Given the description of an element on the screen output the (x, y) to click on. 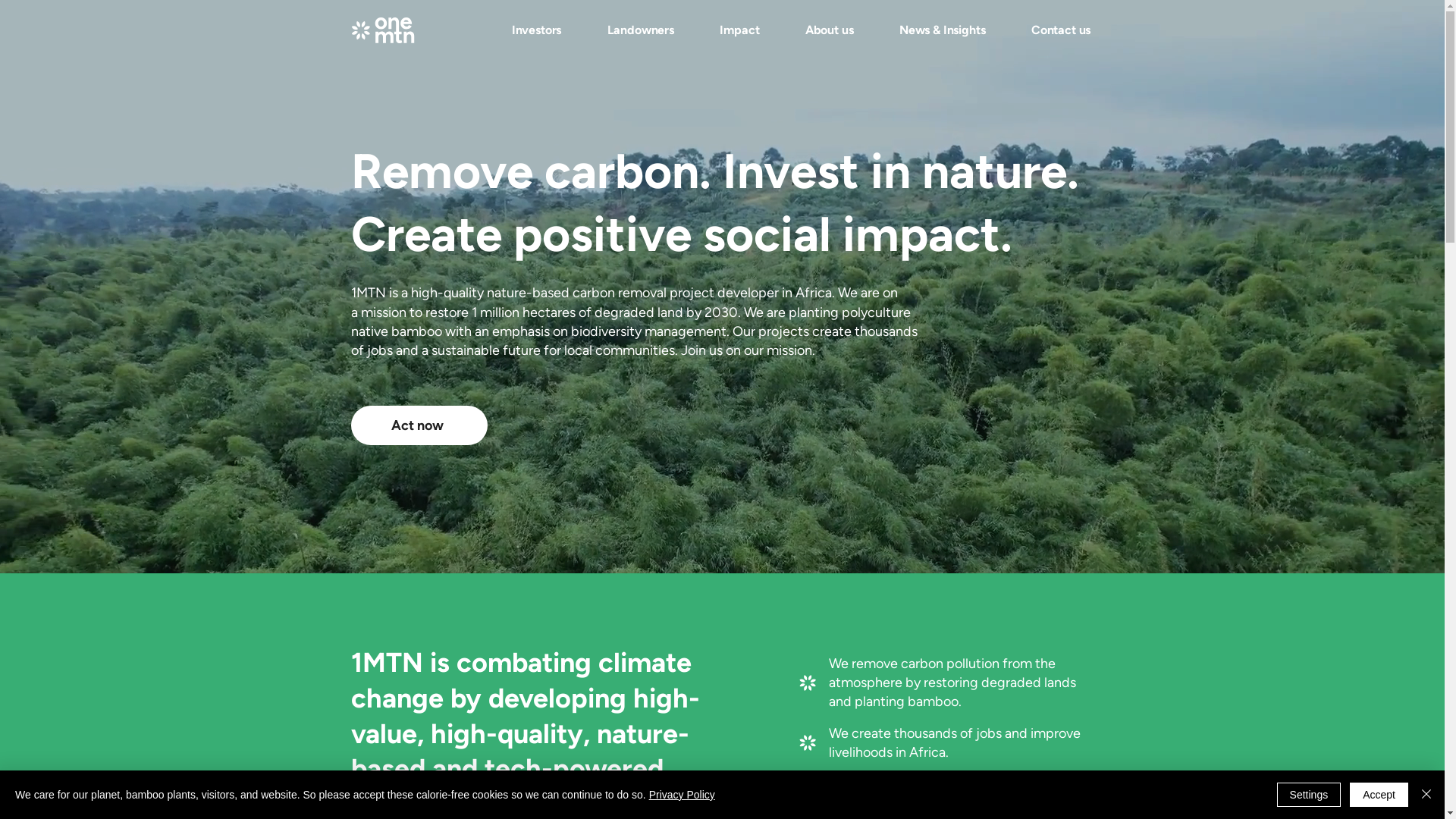
Landowners Element type: text (639, 30)
Accept Element type: text (1378, 794)
Settings Element type: text (1309, 794)
Contact us Element type: text (1060, 30)
Act now Element type: text (418, 425)
News & Insights Element type: text (942, 30)
Impact Element type: text (738, 30)
Privacy Policy Element type: text (682, 794)
